Given the description of an element on the screen output the (x, y) to click on. 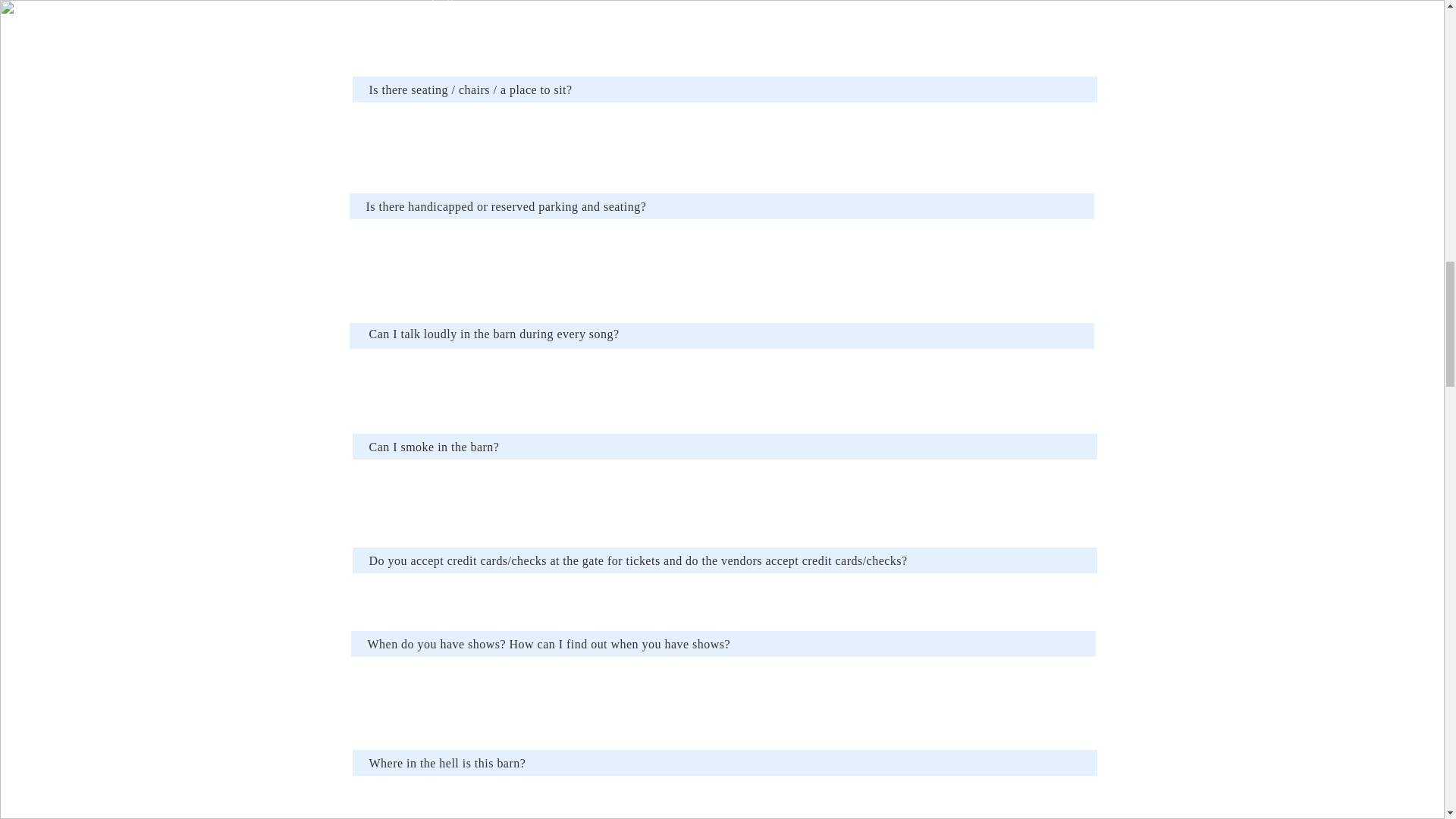
Can I smoke in the barn? (433, 446)
Is there handicapped or reserved parking and seating? (505, 205)
Where in the hell is this barn? (446, 762)
Can I talk loudly in the barn during every song? (493, 333)
